Given the description of an element on the screen output the (x, y) to click on. 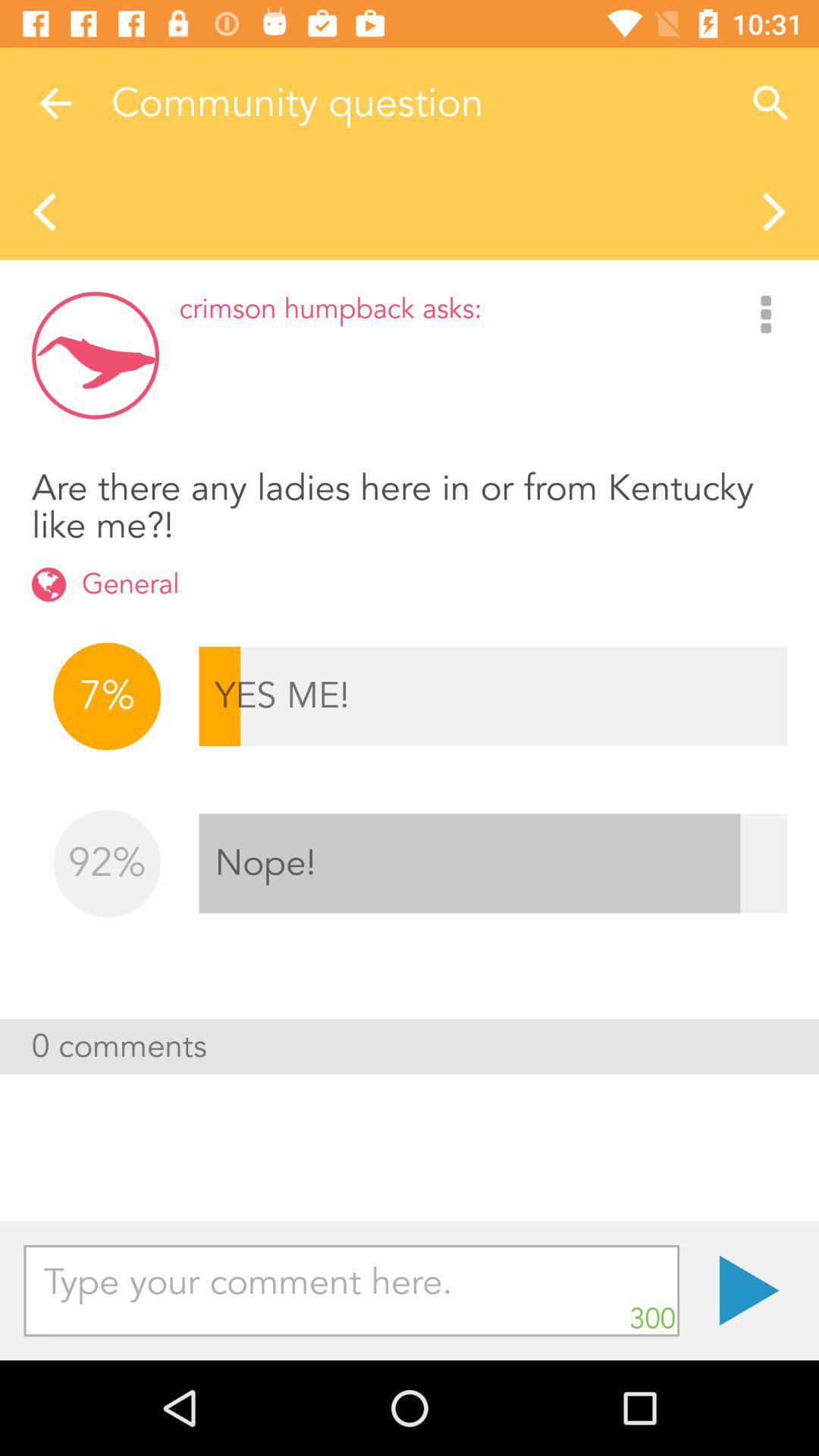
it is used to type your comment (351, 1290)
